Given the description of an element on the screen output the (x, y) to click on. 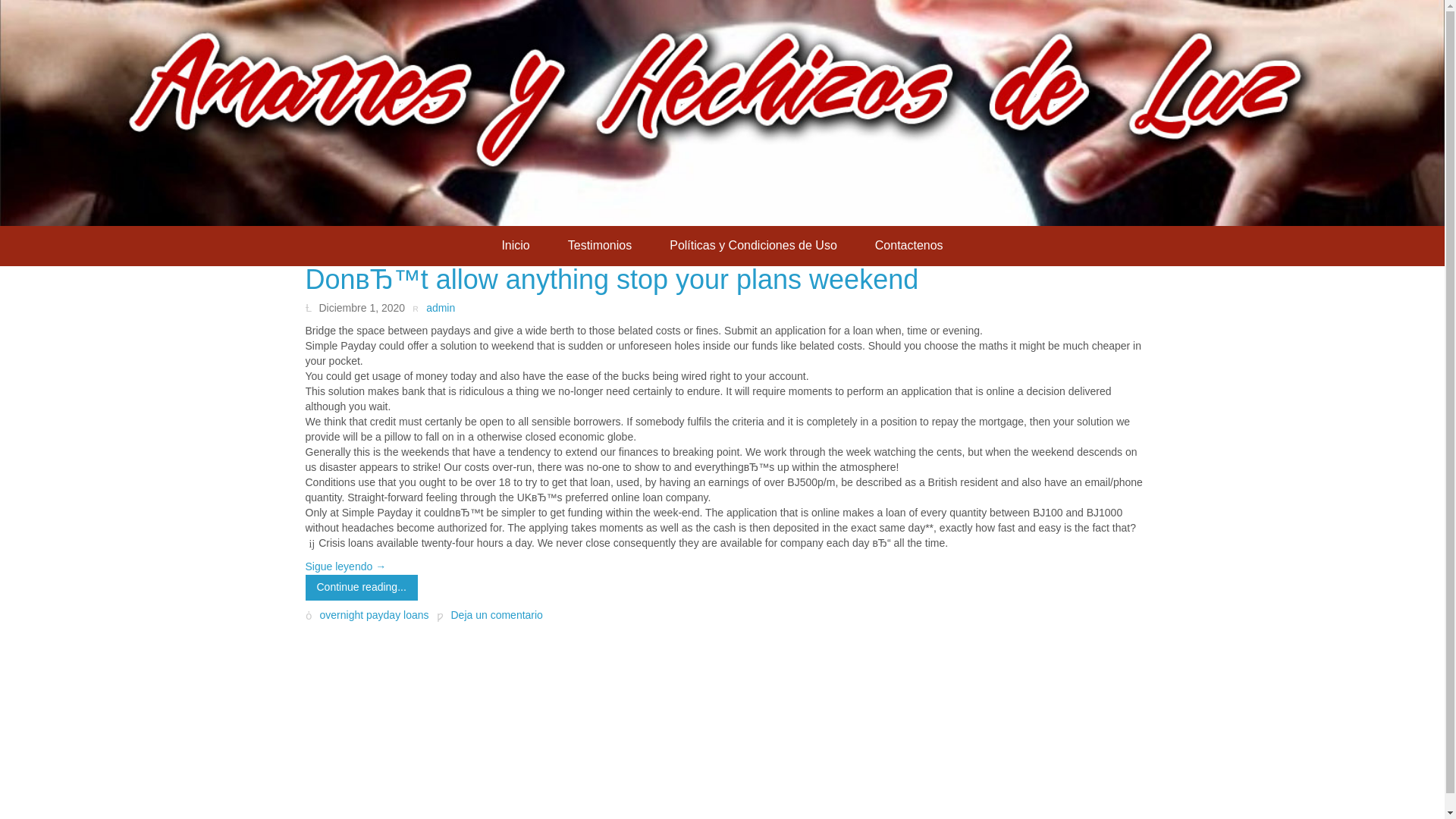
overnight payday loans (374, 615)
Continue reading... (360, 587)
Testimonios (599, 246)
admin (433, 307)
Deja un comentario (489, 614)
Contactenos (909, 246)
Inicio (514, 246)
Continue reading... (360, 587)
View all posts by admin (433, 307)
